Given the description of an element on the screen output the (x, y) to click on. 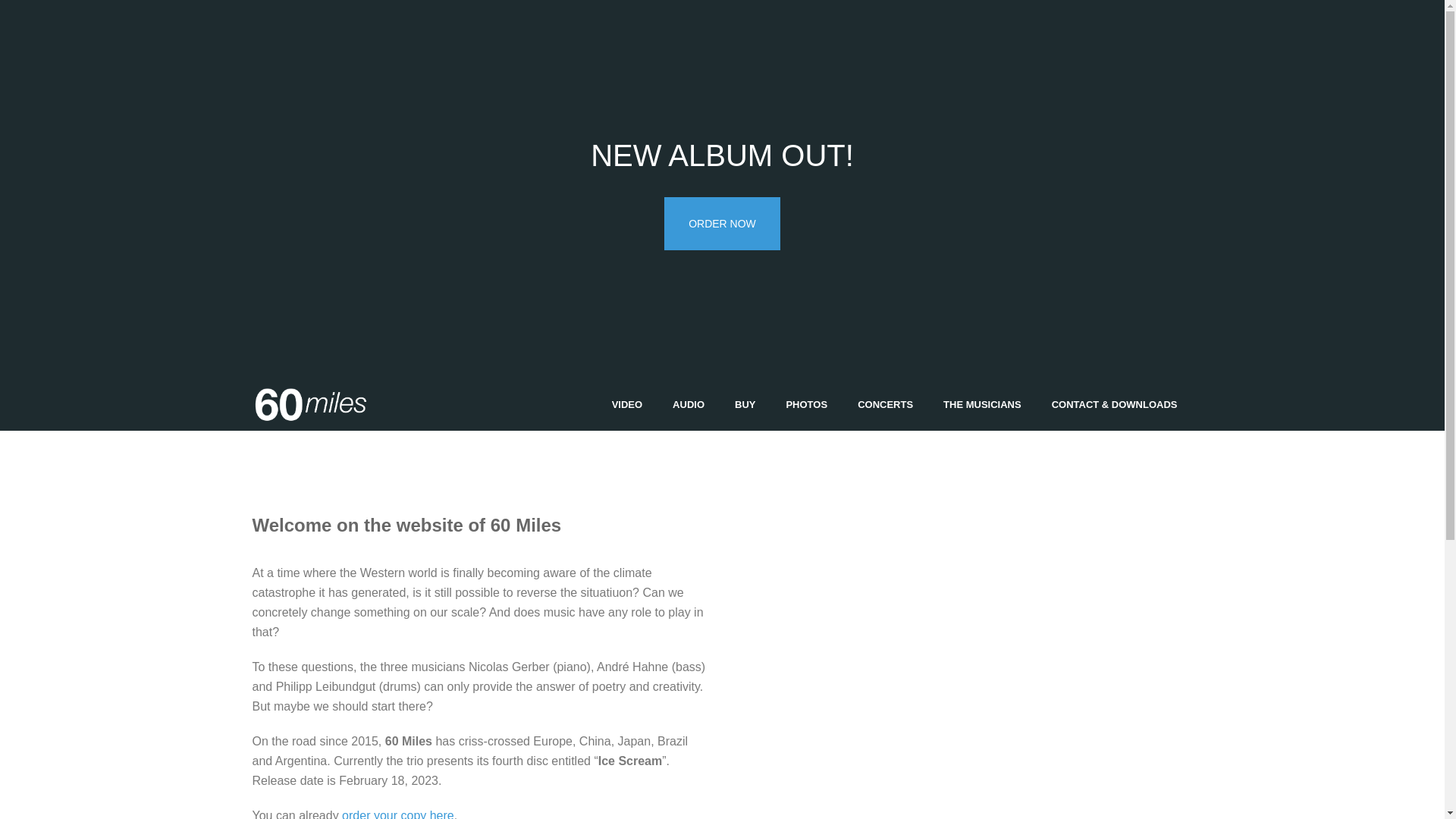
CONCERTS Element type: text (885, 404)
60 Miles Element type: hover (309, 404)
BUY Element type: text (744, 404)
THE MUSICIANS Element type: text (982, 404)
CONTACT & DOWNLOADS Element type: text (1114, 404)
VIDEO Element type: text (626, 404)
PHOTOS Element type: text (806, 404)
ORDER NOW Element type: text (722, 223)
AUDIO Element type: text (688, 404)
